Given the description of an element on the screen output the (x, y) to click on. 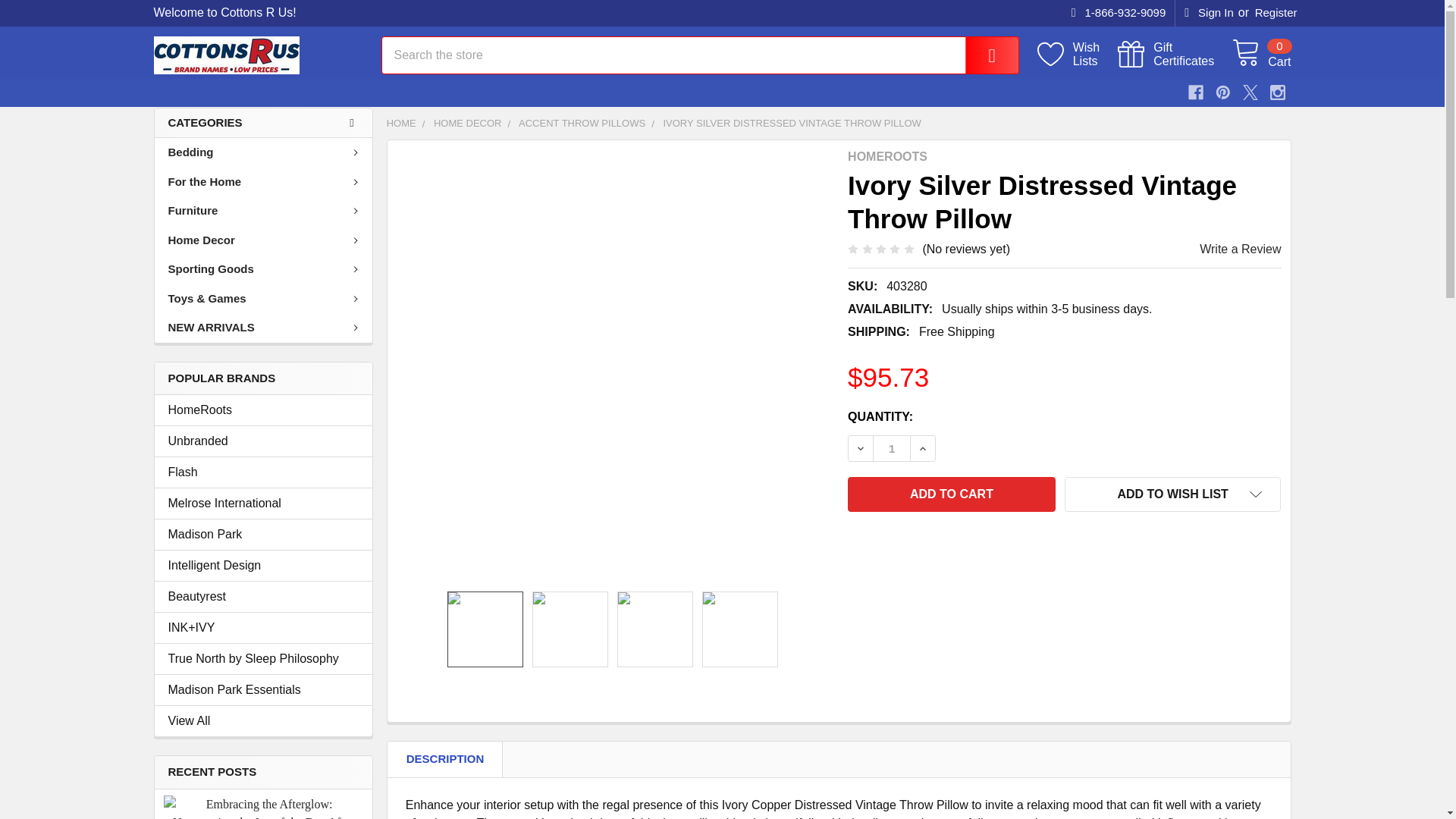
Sign In (1208, 13)
1-866-932-9099 (1260, 54)
Flash (1118, 13)
Pinterest (1077, 54)
Register (263, 472)
Melrose International (1222, 92)
Unbranded (1276, 13)
